Given the description of an element on the screen output the (x, y) to click on. 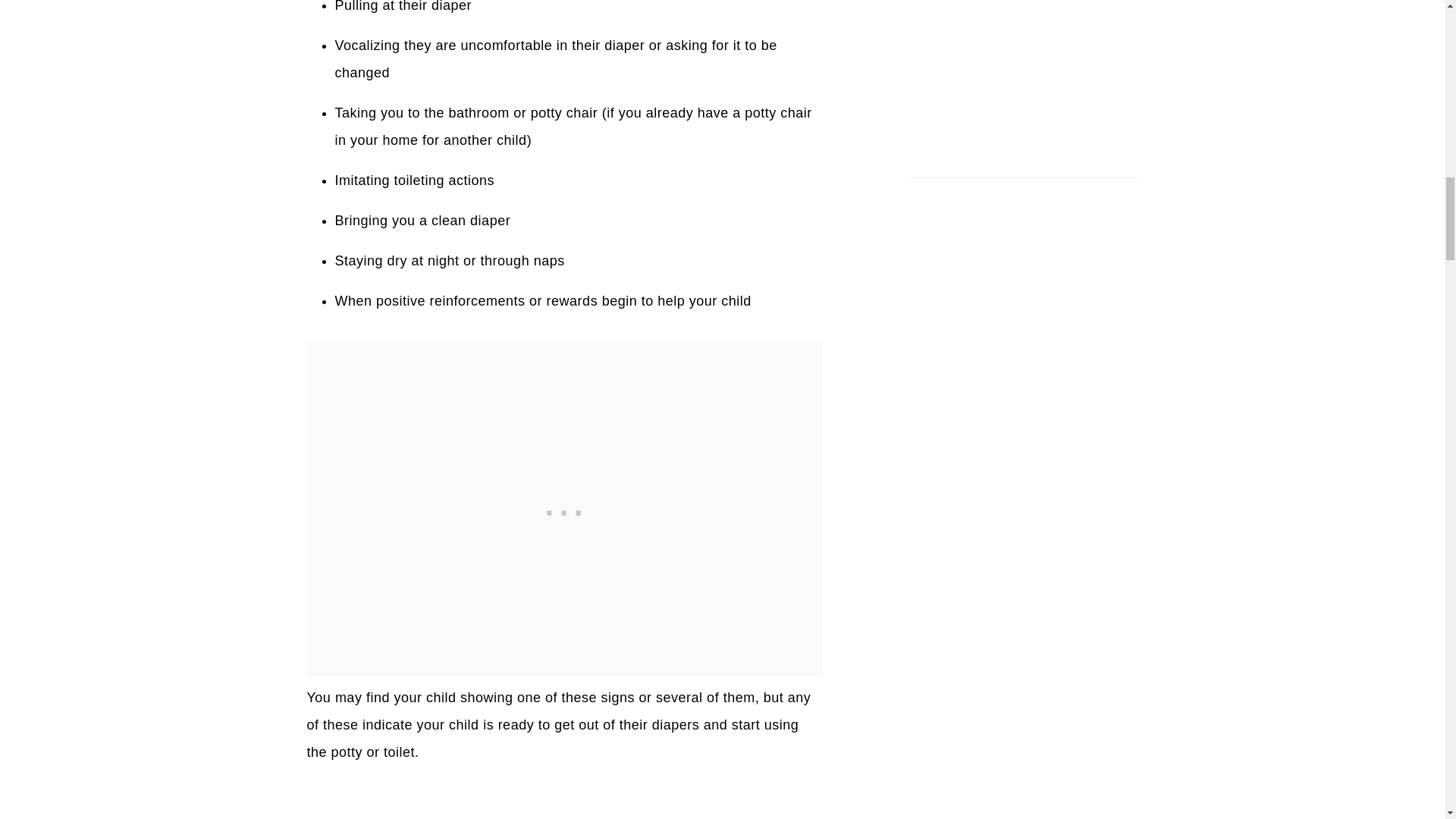
Potty Training With Autism: A Quick Guide (563, 806)
